Given the description of an element on the screen output the (x, y) to click on. 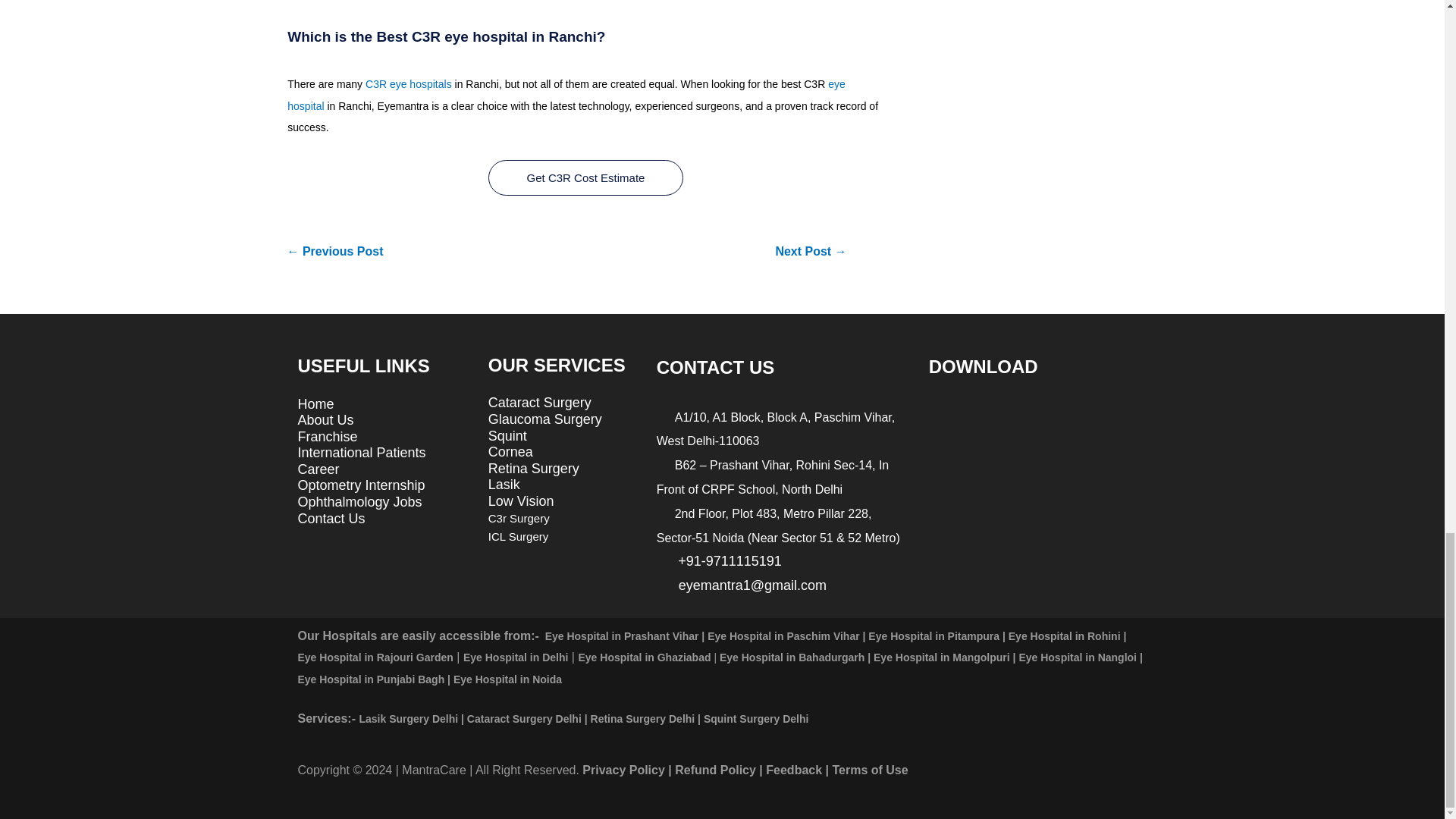
Eye Hospital (565, 94)
